Given the description of an element on the screen output the (x, y) to click on. 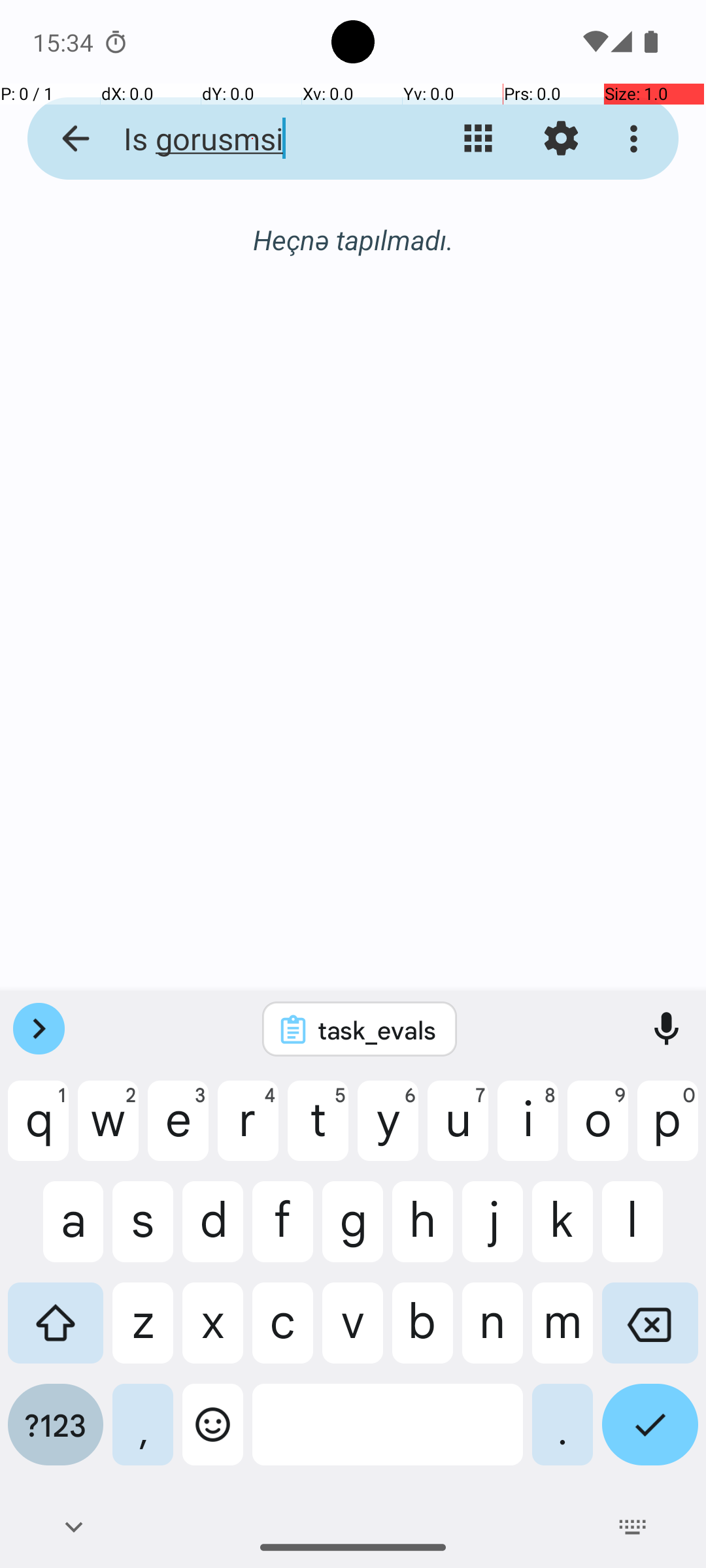
Is gorusmsi Element type: android.widget.EditText (252, 138)
Görünüşü dəyiş Element type: android.widget.Button (477, 138)
Digər seçimlər Element type: android.widget.ImageView (636, 138)
Yeni Hadisə Element type: android.widget.ImageButton (630, 915)
Oktyabr Element type: android.widget.TextView (352, 239)
Heçnə tapılmadı. Element type: android.widget.TextView (353, 239)
